Given the description of an element on the screen output the (x, y) to click on. 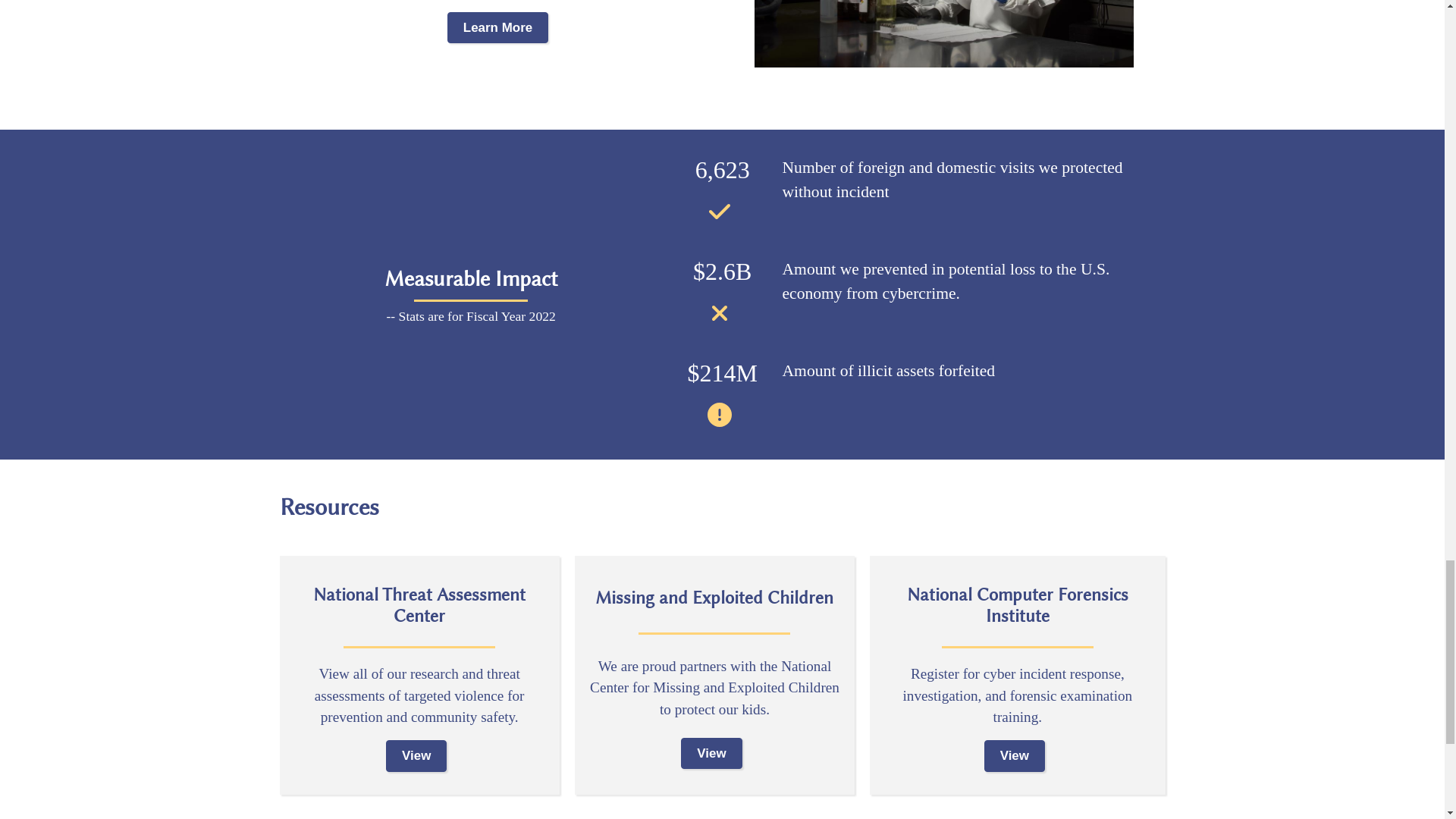
View (1014, 755)
View (415, 755)
Learn More (497, 27)
View (711, 753)
